Given the description of an element on the screen output the (x, y) to click on. 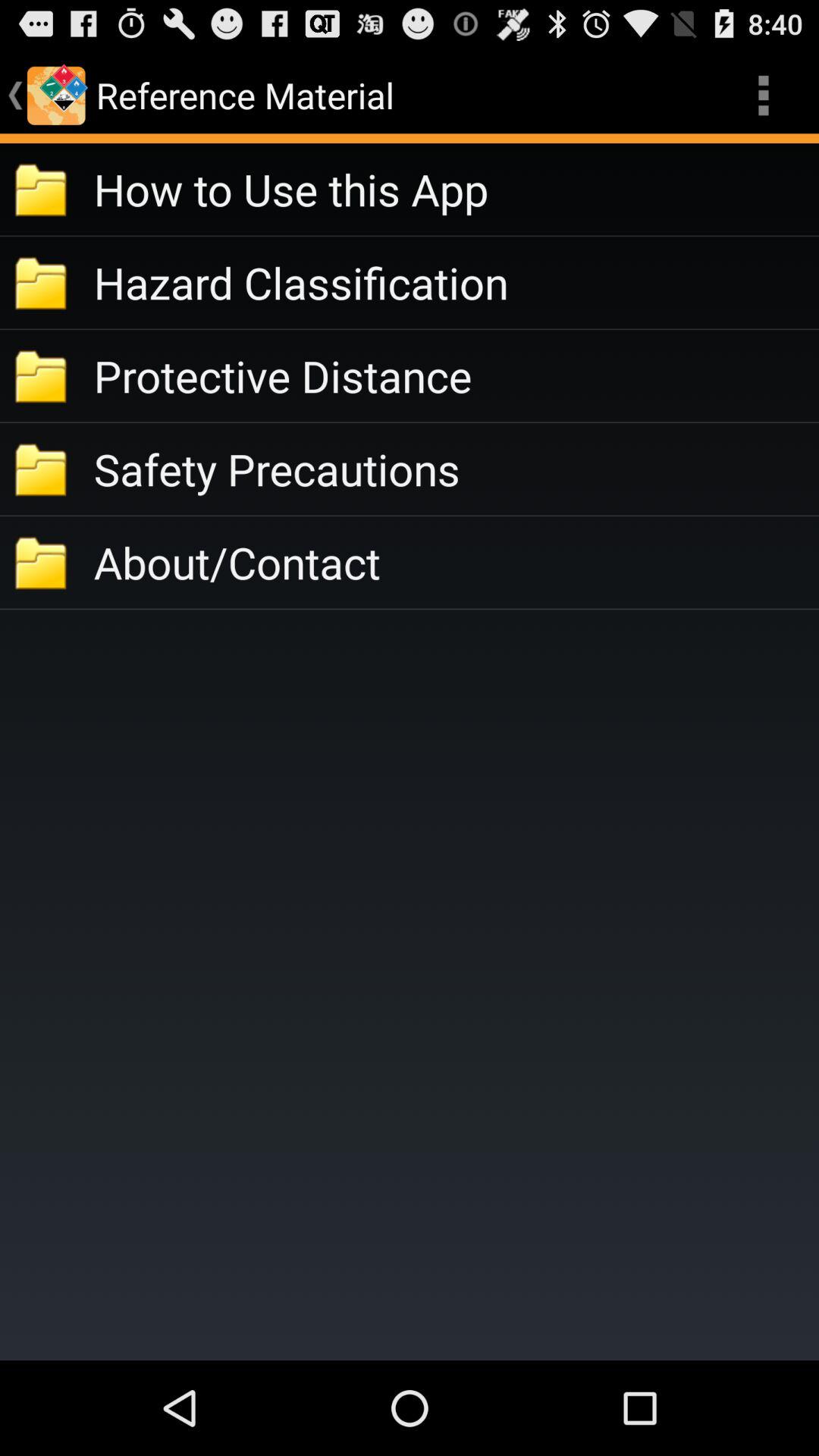
tap the app above about/contact icon (456, 469)
